Given the description of an element on the screen output the (x, y) to click on. 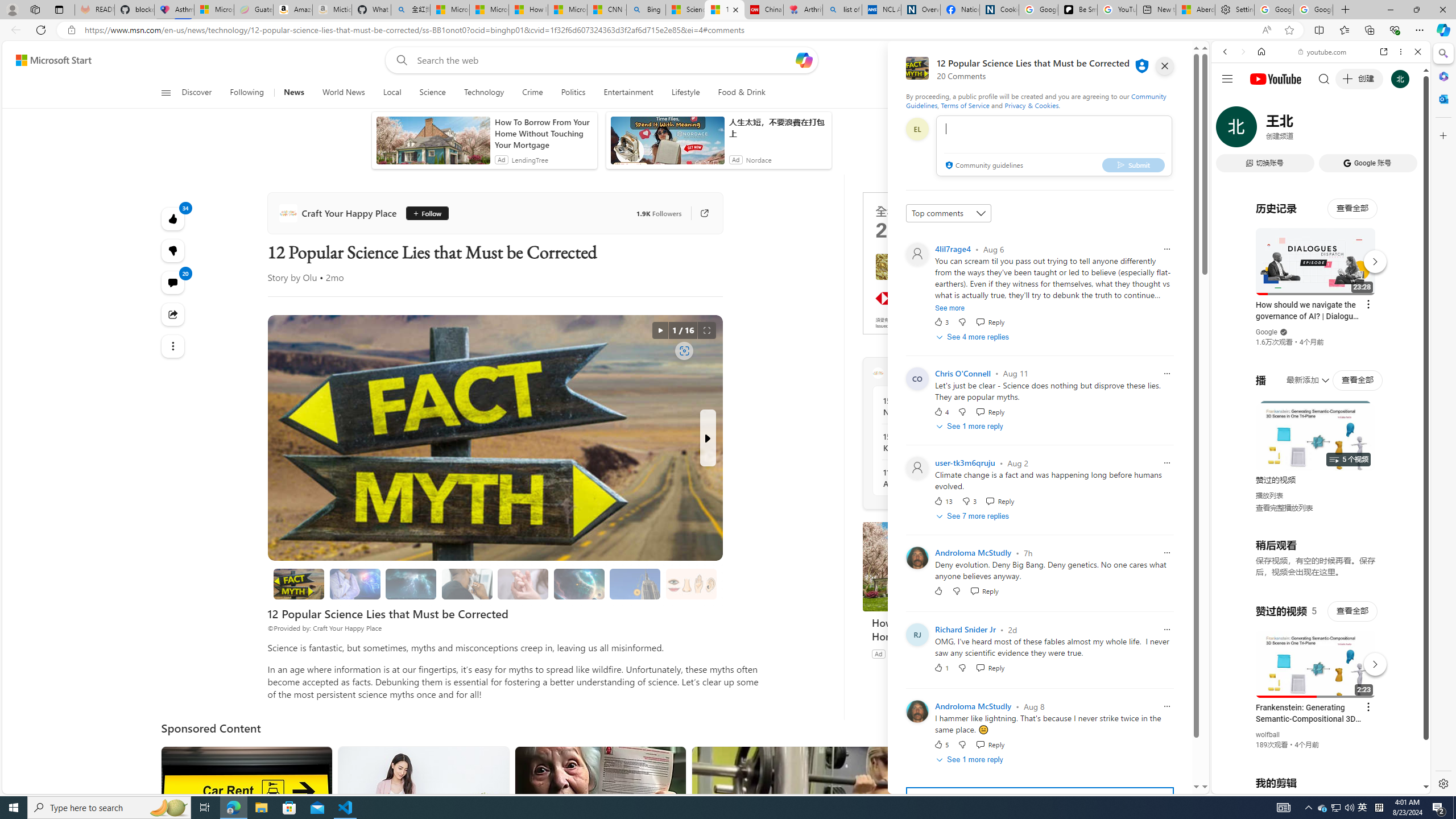
Brain Myths (354, 583)
comment-box (1054, 145)
Asthma Inhalers: Names and Types (174, 9)
See 4 more replies (973, 336)
youtube.com (1322, 51)
Be Smart | creating Science videos | Patreon (1077, 9)
Food & Drink (741, 92)
